Given the description of an element on the screen output the (x, y) to click on. 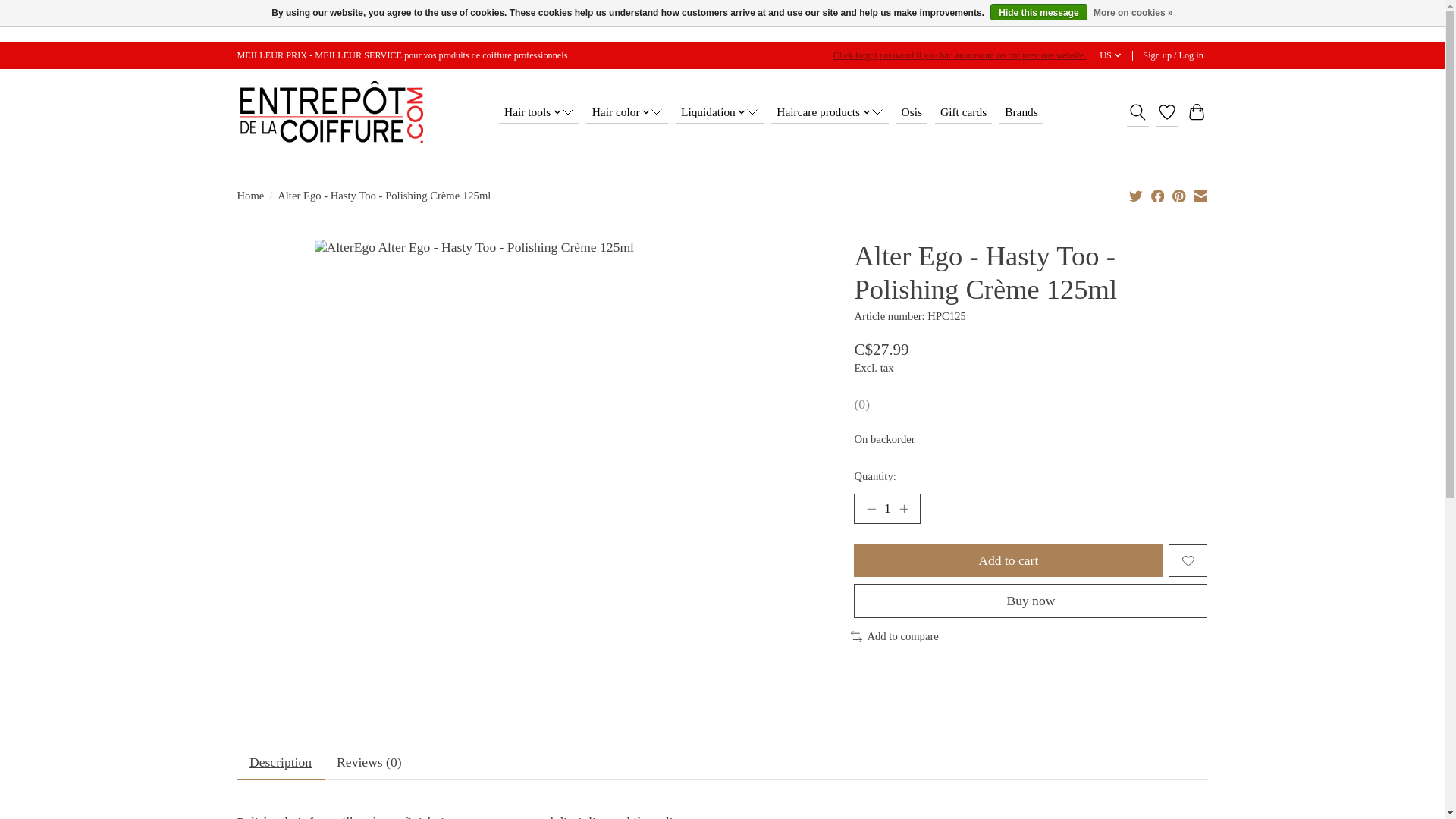
1 (886, 508)
Hair tools (539, 111)
My account (1173, 55)
US (1109, 55)
Hair color (627, 111)
